Given the description of an element on the screen output the (x, y) to click on. 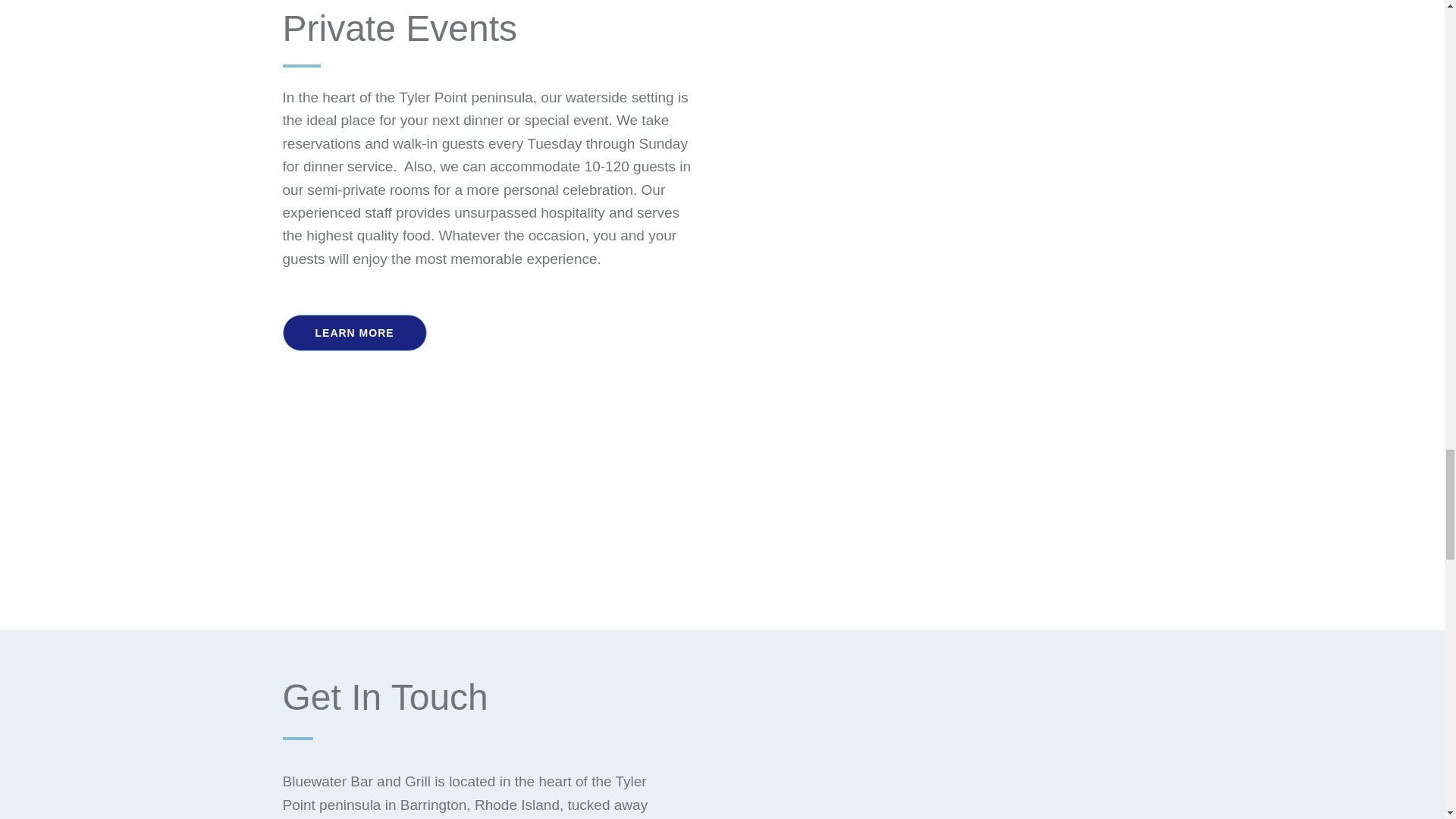
LEARN MORE (354, 332)
